Given the description of an element on the screen output the (x, y) to click on. 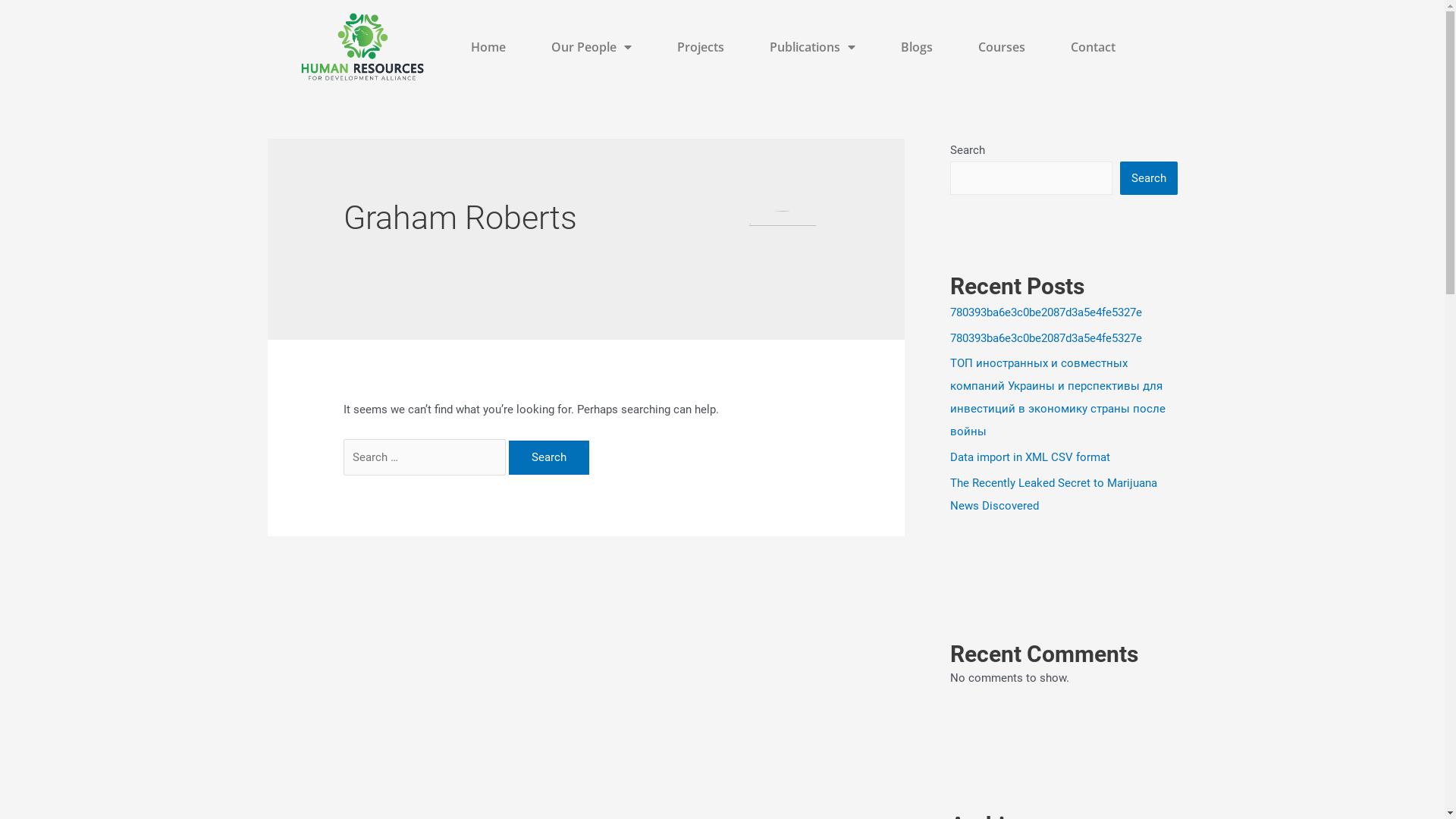
780393ba6e3c0be2087d3a5e4fe5327e Element type: text (1045, 338)
Courses Element type: text (1001, 46)
780393ba6e3c0be2087d3a5e4fe5327e Element type: text (1045, 312)
Blogs Element type: text (916, 46)
Home Element type: text (488, 46)
Publications Element type: text (812, 46)
The Recently Leaked Secret to Marijuana News Discovered Element type: text (1052, 494)
Projects Element type: text (700, 46)
Our People Element type: text (591, 46)
Data import in XML CSV format Element type: text (1029, 457)
Contact Element type: text (1093, 46)
Search Element type: text (548, 457)
Search Element type: text (1147, 177)
